Given the description of an element on the screen output the (x, y) to click on. 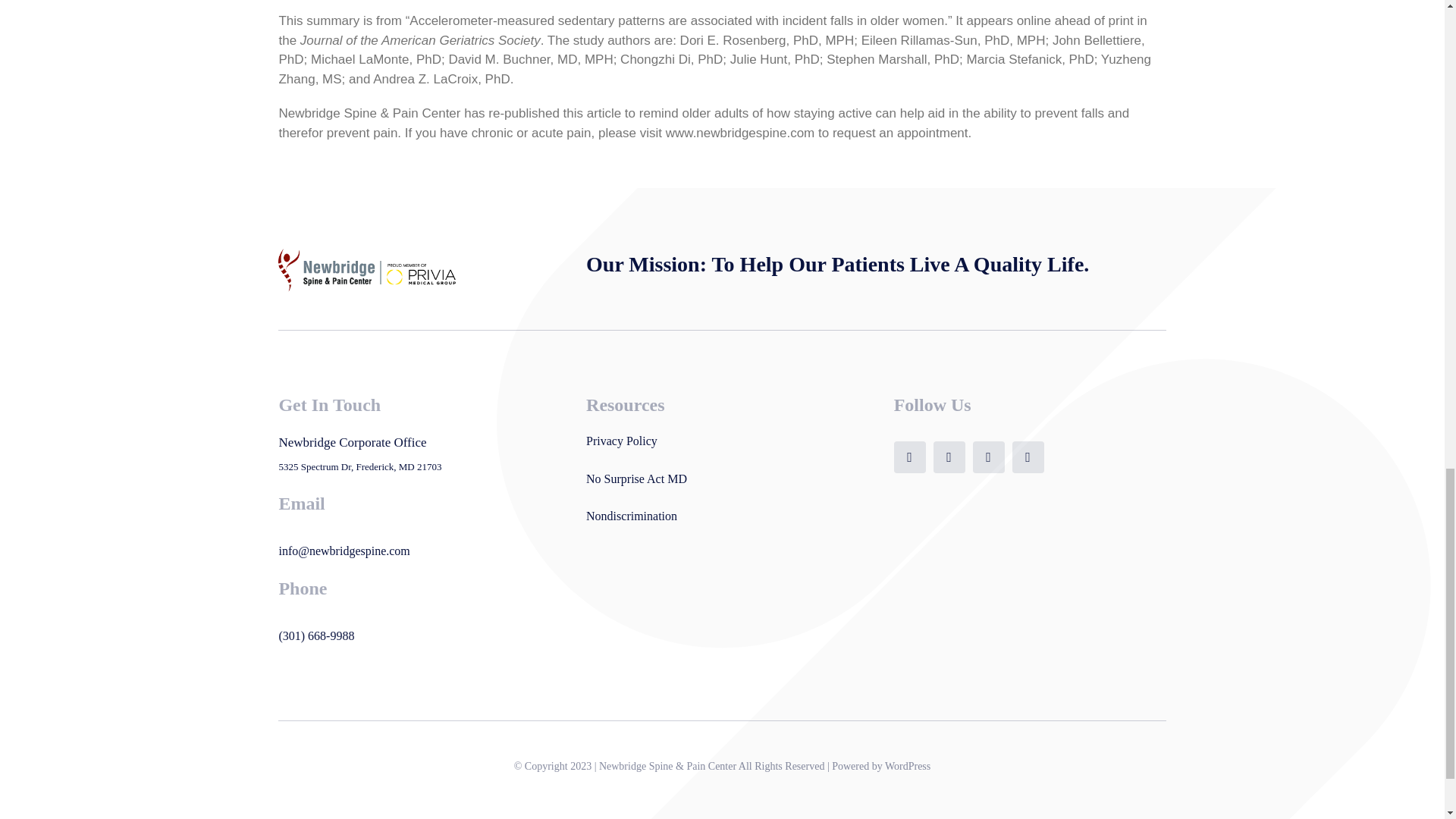
LinkedIn (1027, 457)
Instagram (988, 457)
X (949, 457)
Facebook (909, 457)
